Given the description of an element on the screen output the (x, y) to click on. 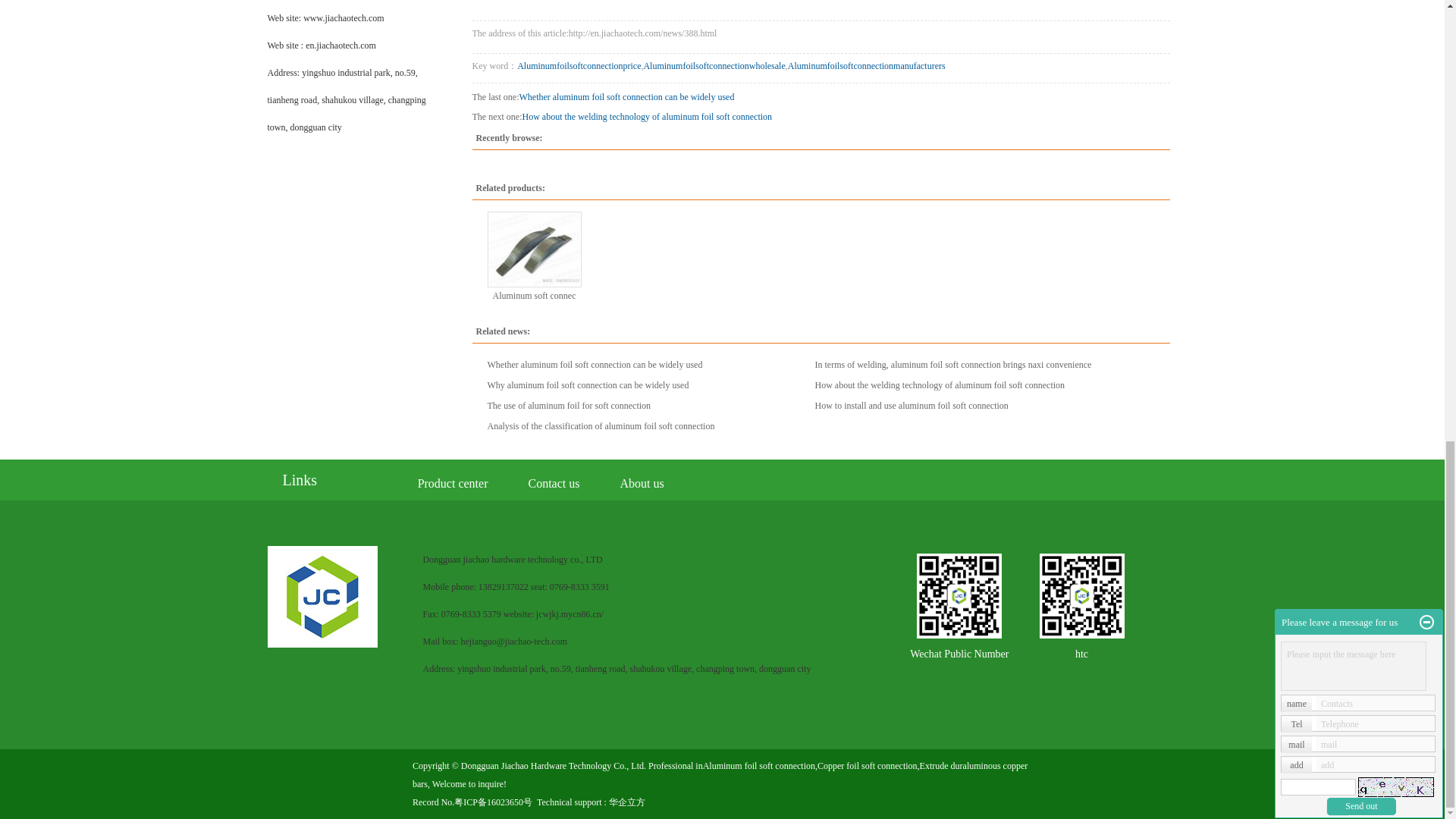
Whether aluminum foil soft connection can be widely used (593, 364)
Aluminum soft connection (534, 295)
Aluminum soft connection (533, 249)
